Given the description of an element on the screen output the (x, y) to click on. 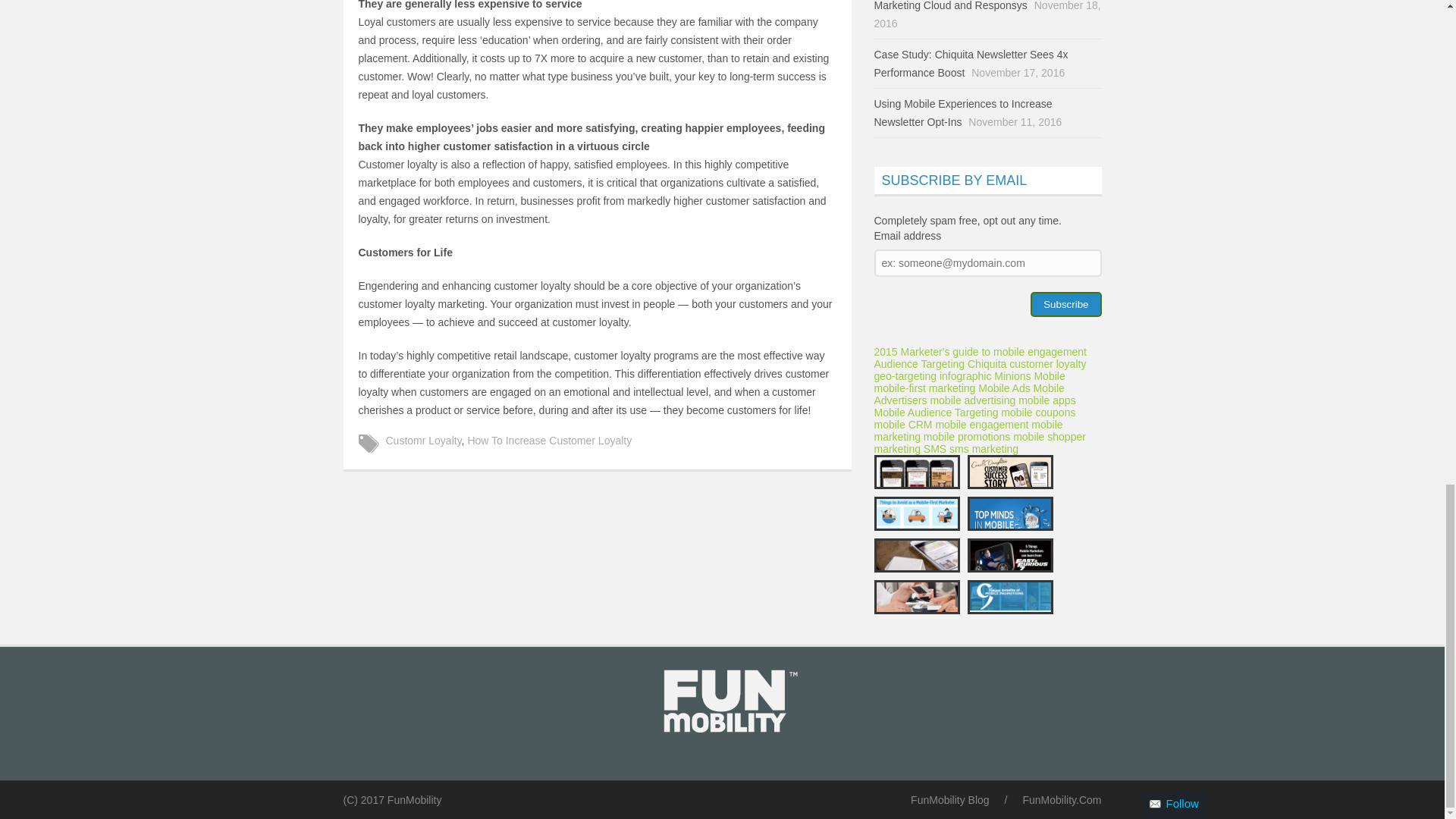
mobile CRM (902, 424)
infographic (965, 376)
2015 Marketer's guide to mobile engagement (979, 351)
Using Mobile Experiences to Increase Newsletter Opt-Ins (962, 112)
mobile advertising (972, 399)
Minions (1012, 376)
Mobile Advertisers (968, 394)
Mobile Ads (1003, 387)
Chiquita (987, 363)
mobile-first marketing (924, 387)
mobile apps (1046, 399)
geo-targeting (904, 376)
mobile engagement (980, 424)
Mobile (1048, 376)
Subscribe (1065, 303)
